Given the description of an element on the screen output the (x, y) to click on. 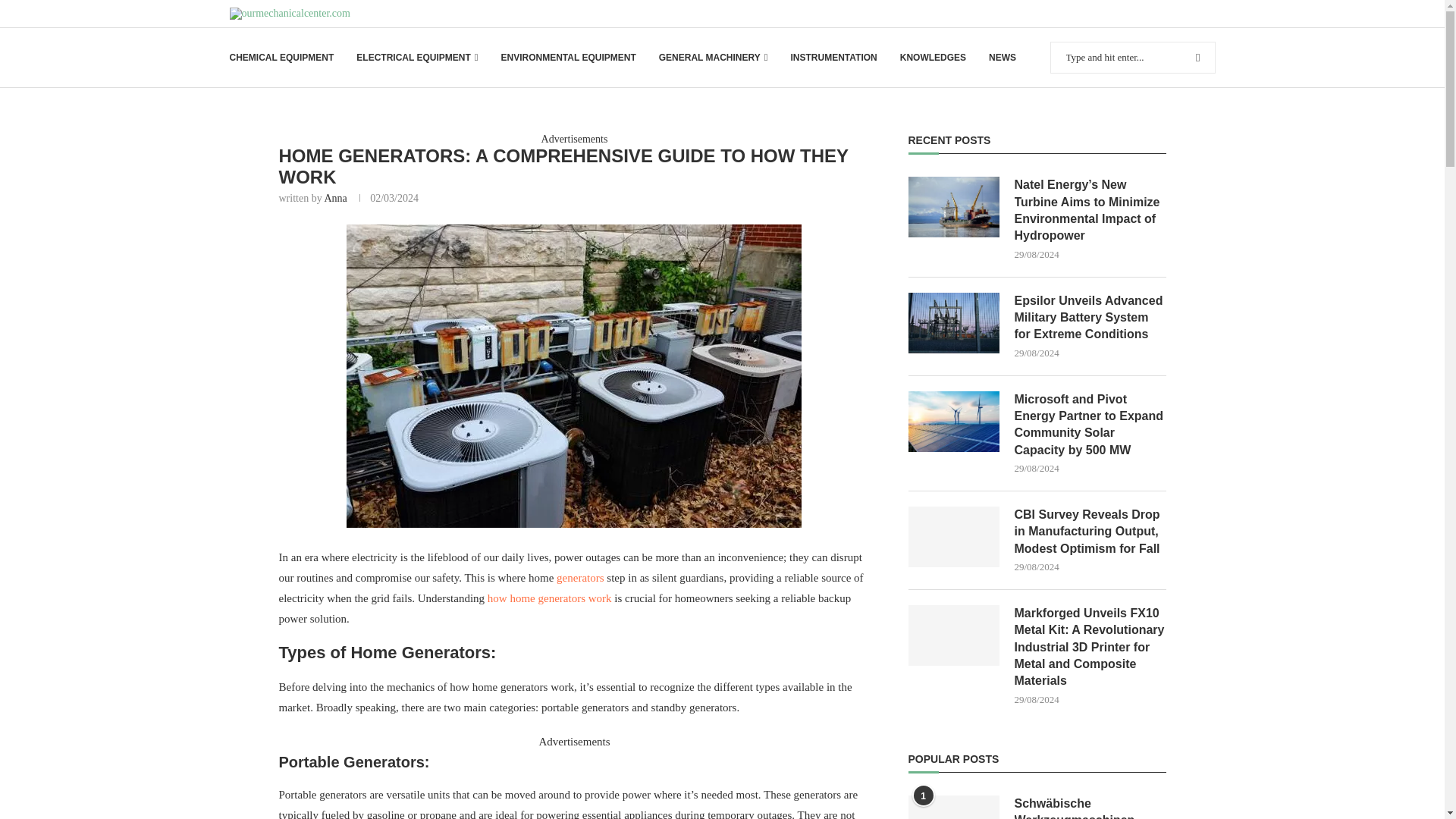
INSTRUMENTATION (833, 57)
CHEMICAL EQUIPMENT (280, 57)
ELECTRICAL EQUIPMENT (416, 57)
ENVIRONMENTAL EQUIPMENT (567, 57)
KNOWLEDGES (932, 57)
